Given the description of an element on the screen output the (x, y) to click on. 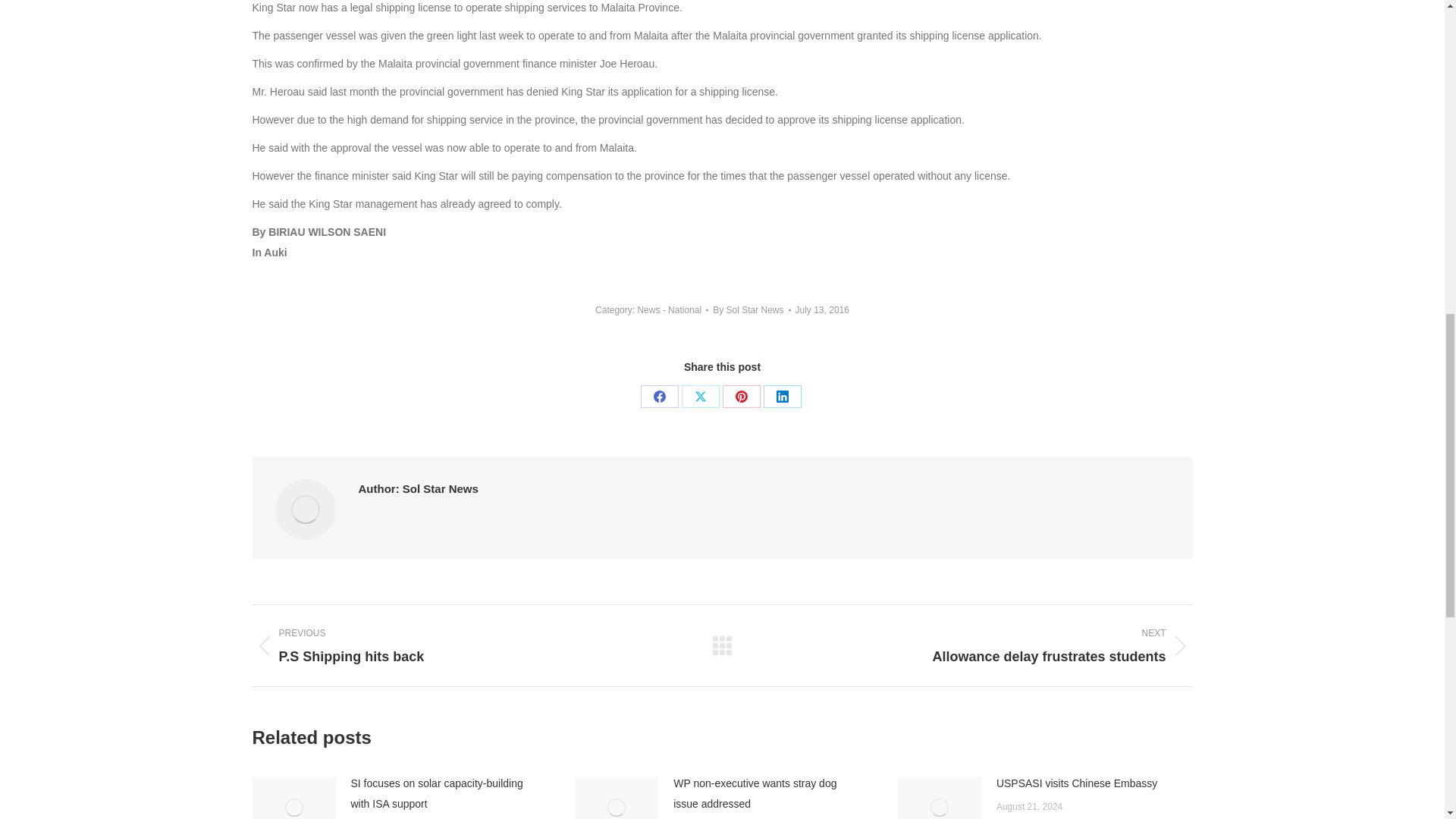
Pinterest (741, 395)
View all posts by Sol Star News (751, 310)
By Sol Star News (751, 310)
Facebook (659, 395)
LinkedIn (781, 395)
X (700, 395)
News - National (669, 309)
10:10 pm (821, 310)
